Given the description of an element on the screen output the (x, y) to click on. 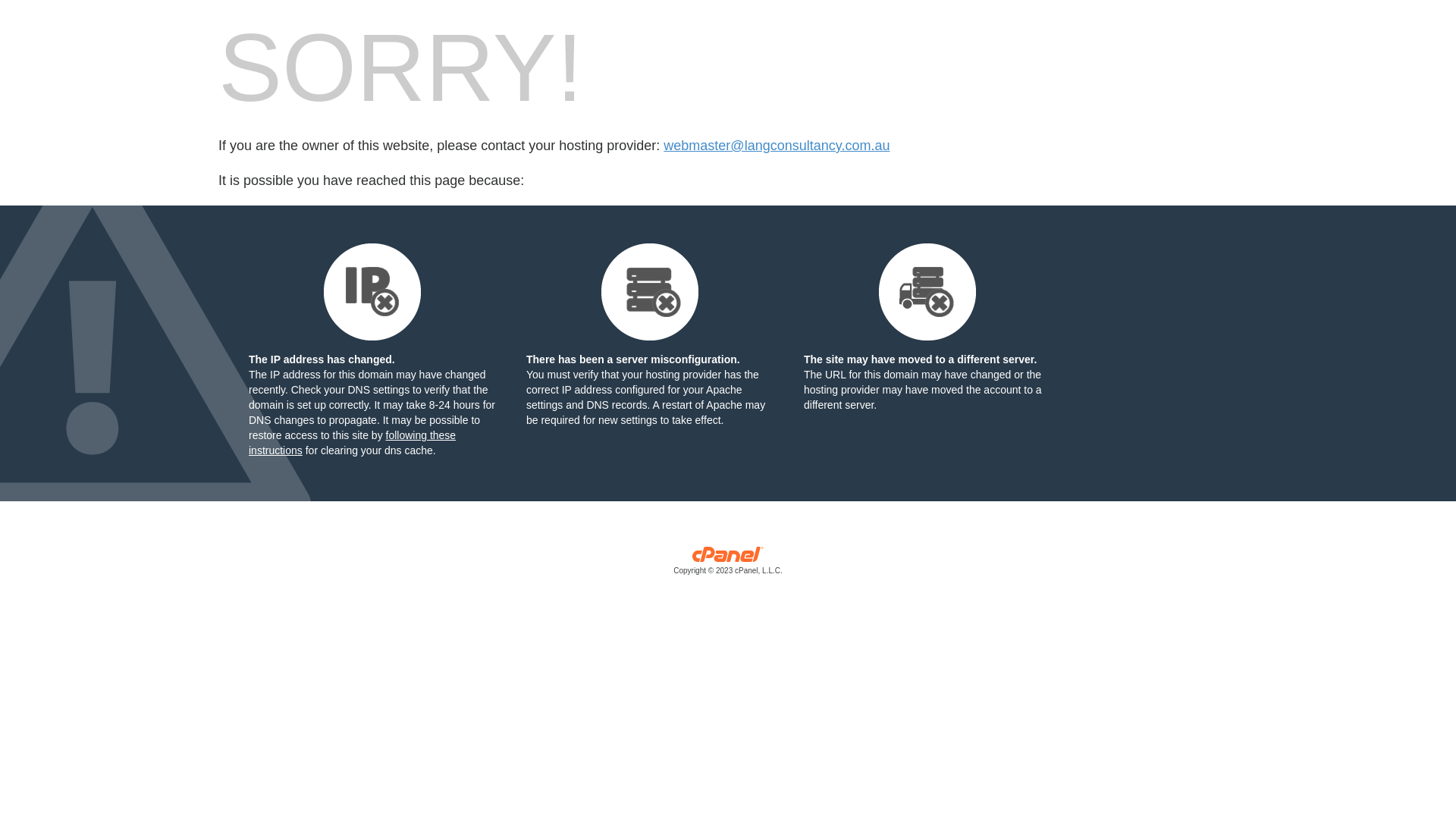
following these instructions Element type: text (351, 442)
webmaster@langconsultancy.com.au Element type: text (776, 145)
